Given the description of an element on the screen output the (x, y) to click on. 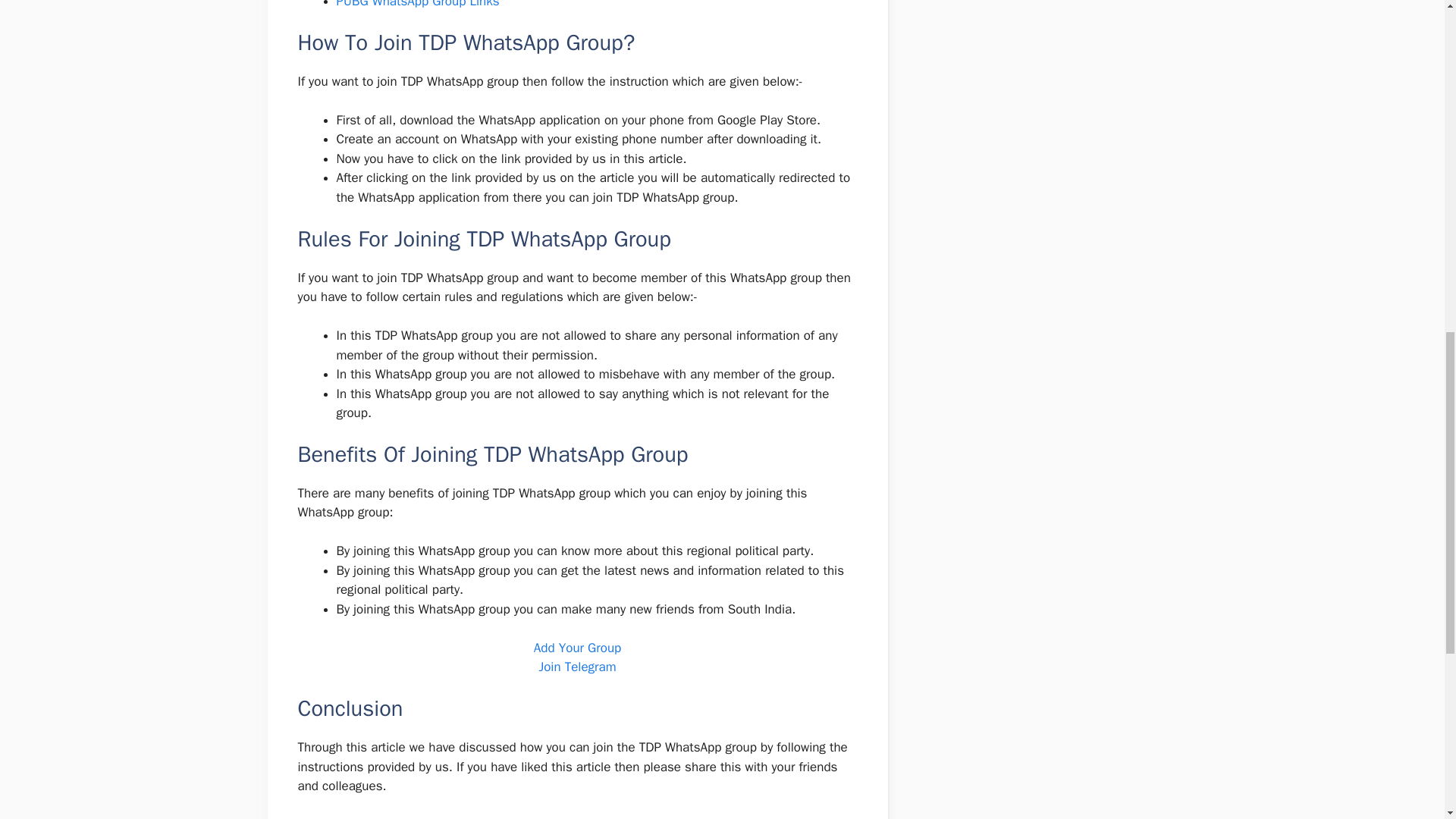
Join Telegram (576, 666)
PUBG WhatsApp Group Links (417, 4)
Add Your Group (577, 647)
